Given the description of an element on the screen output the (x, y) to click on. 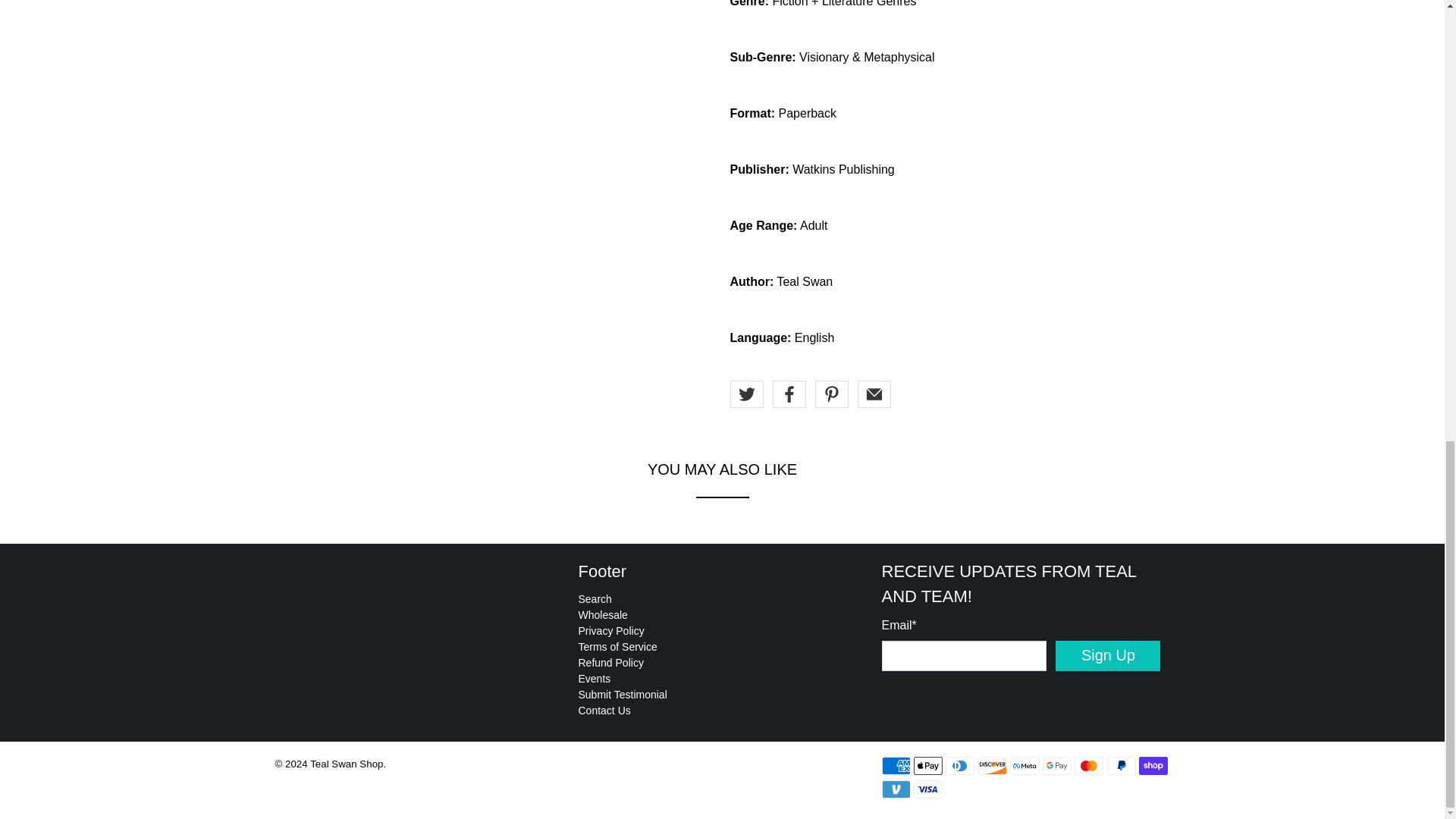
PayPal (1120, 765)
Apple Pay (928, 765)
Share this on Facebook (788, 393)
Discover (992, 765)
Meta Pay (1024, 765)
Shop Pay (1152, 765)
Mastercard (1088, 765)
Share this on Pinterest (830, 393)
Share this on Twitter (745, 393)
American Express (895, 765)
Diners Club (959, 765)
Email this to a friend (873, 393)
Google Pay (1056, 765)
